Given the description of an element on the screen output the (x, y) to click on. 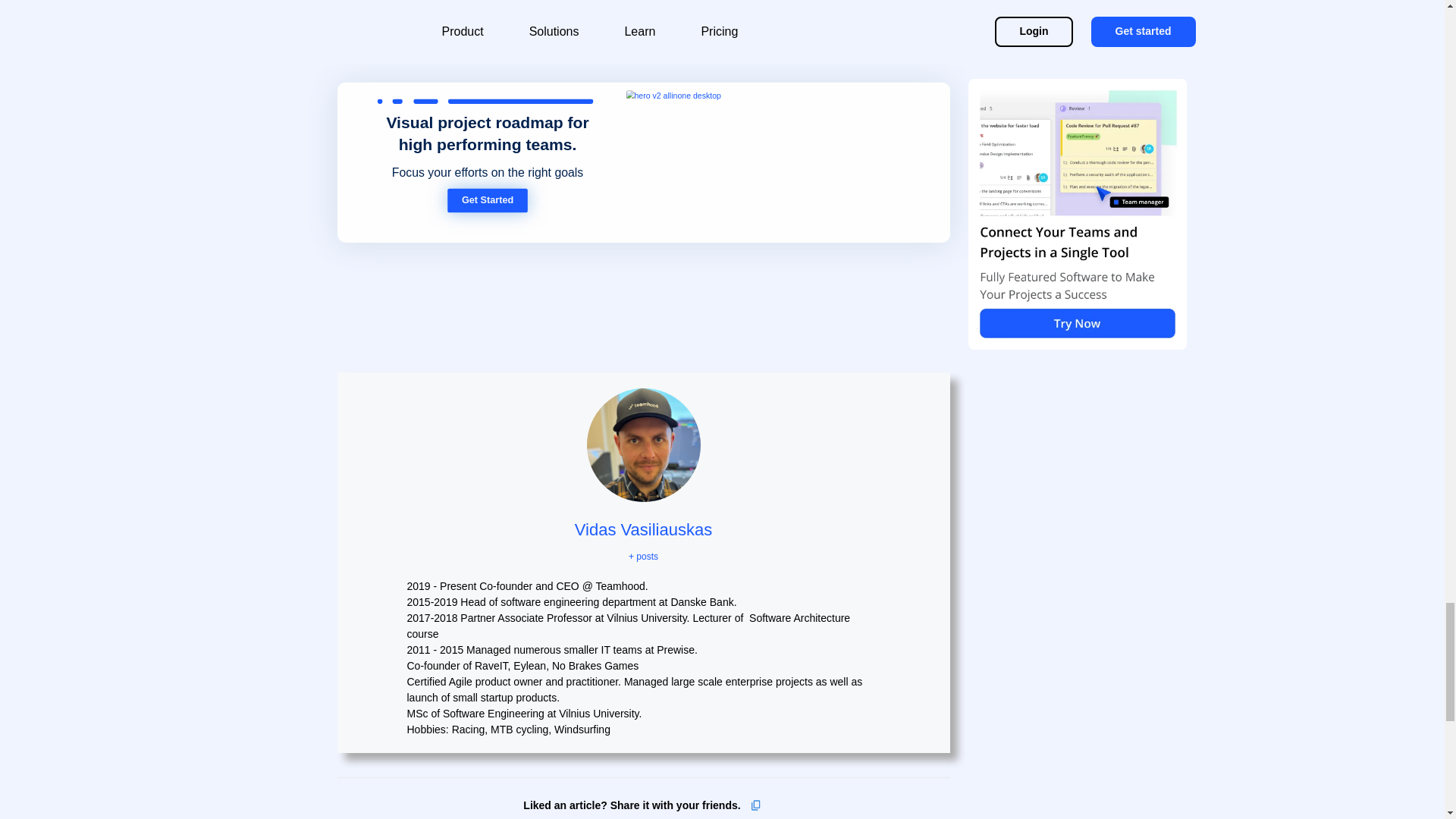
Get Started (507, 206)
Vidas Vasiliauskas (643, 529)
How to Create a Project Roadmap: Tips and Examples 4 (865, 199)
